Given the description of an element on the screen output the (x, y) to click on. 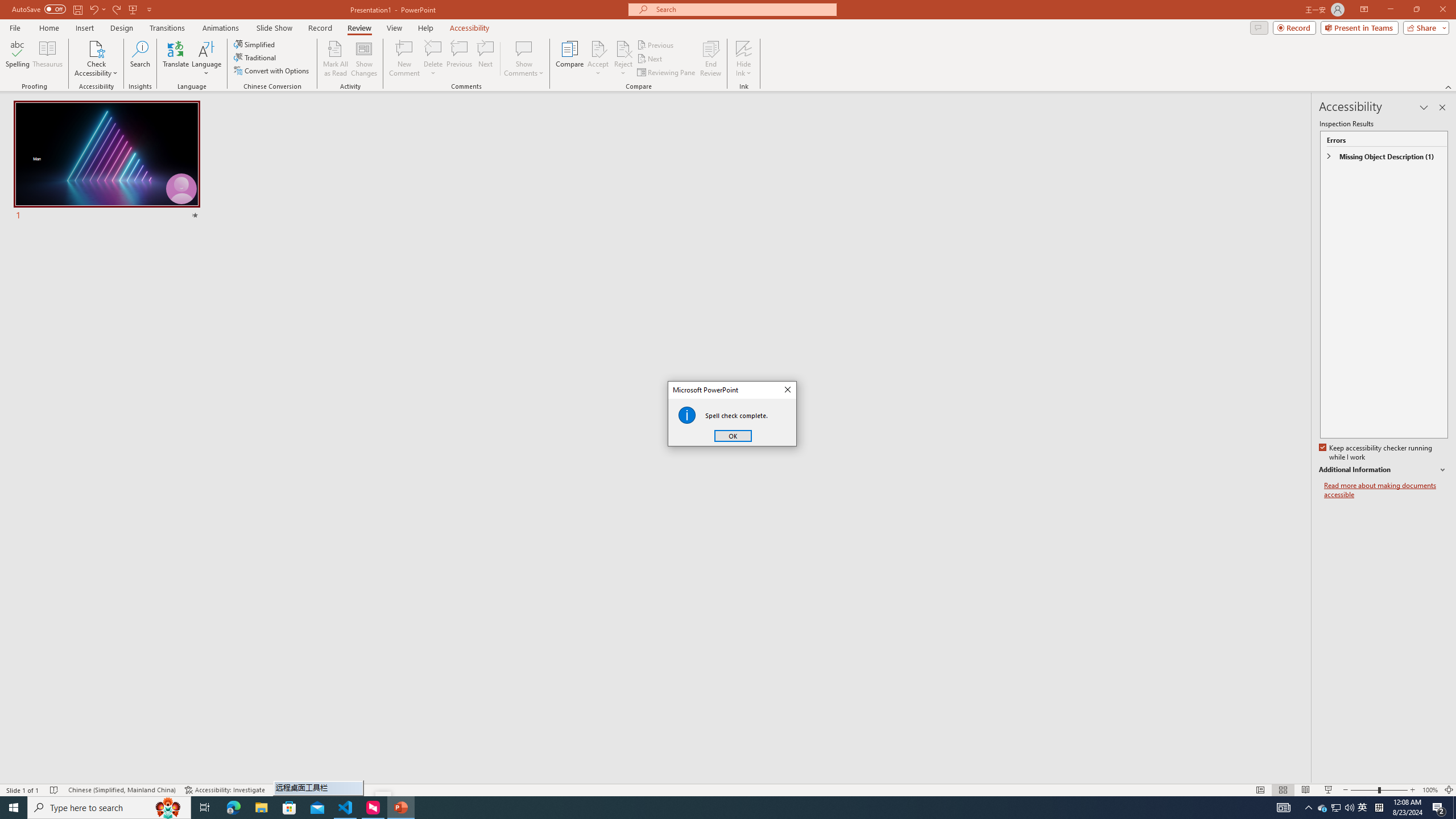
Reject (622, 58)
